Given the description of an element on the screen output the (x, y) to click on. 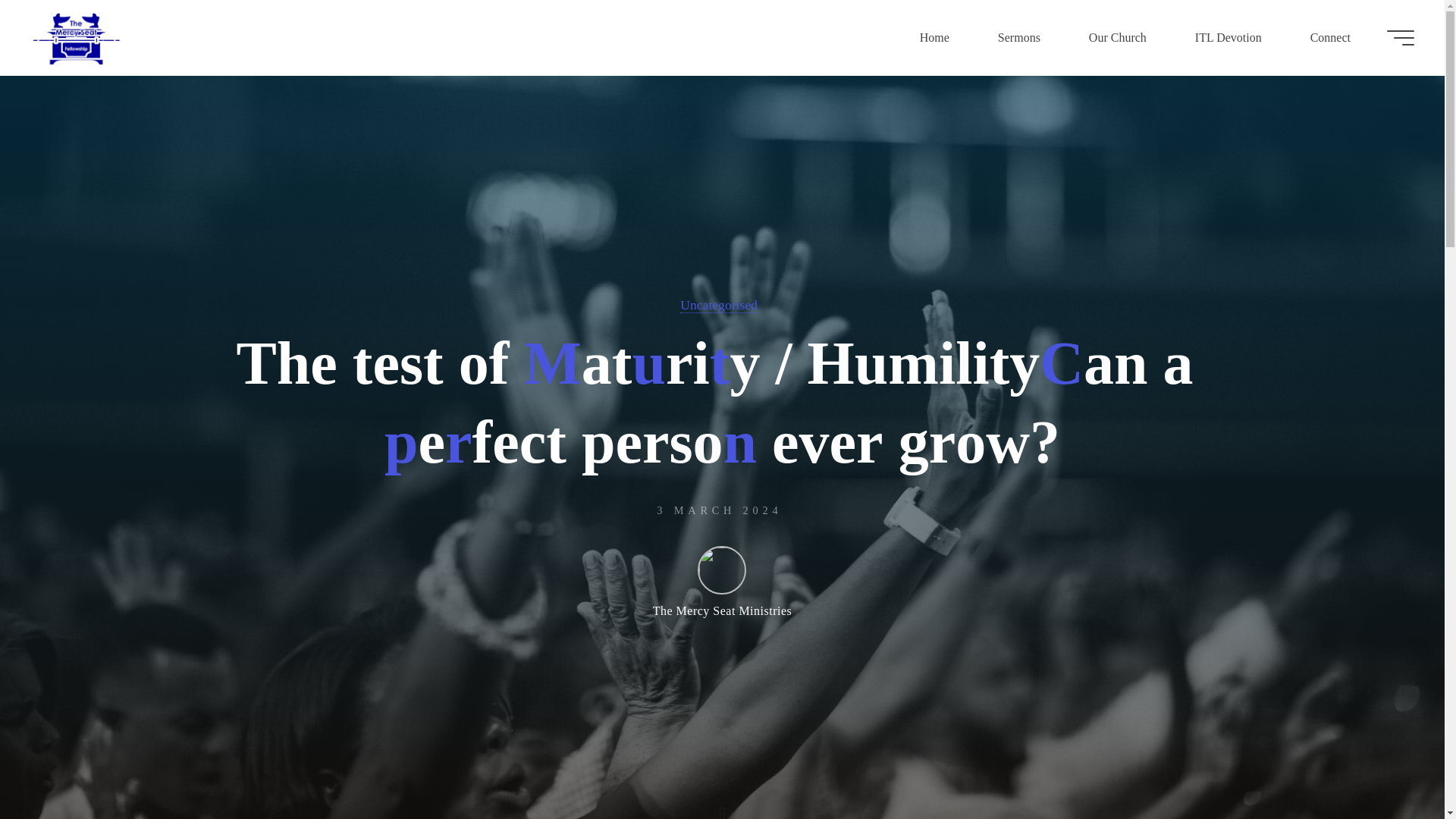
Uncategorised (718, 304)
Our Church (1117, 38)
Home (934, 38)
Sermons (1019, 38)
ITL Devotion (1227, 38)
The Mercy Seat Ministries. (76, 37)
Connect (1329, 38)
Read more (721, 800)
The Mercy Seat Ministries (722, 581)
View all posts by The Mercy Seat Ministries (722, 581)
